Given the description of an element on the screen output the (x, y) to click on. 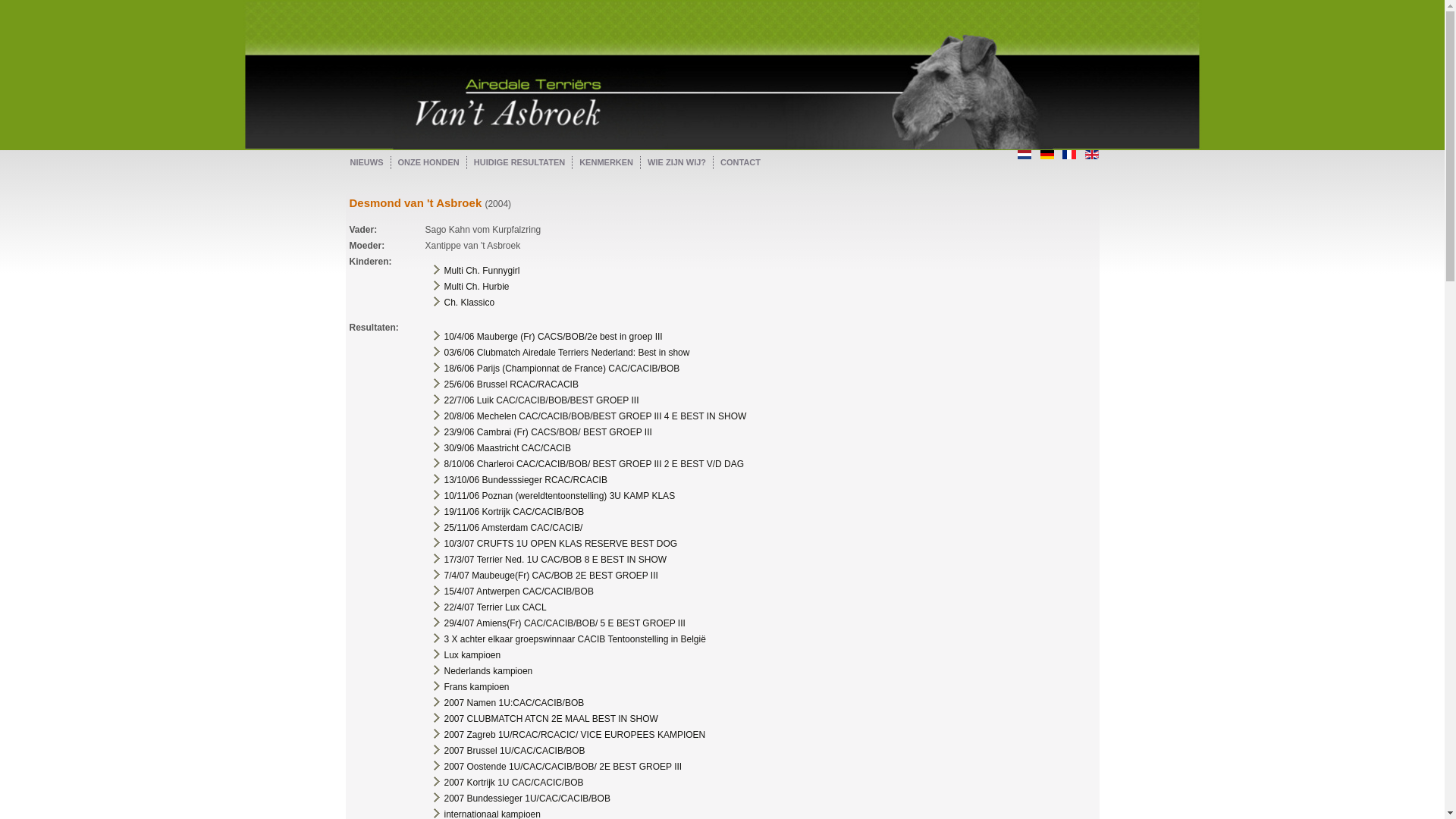
Nederlands (NL) Element type: hover (1024, 154)
HUIDIGE RESULTATEN Element type: text (518, 162)
ONZE HONDEN Element type: text (427, 162)
CONTACT Element type: text (740, 162)
WIE ZIJN WIJ? Element type: text (676, 162)
English (UK) Element type: hover (1091, 154)
KENMERKEN Element type: text (606, 162)
Deutsch Element type: hover (1047, 154)
NIEUWS Element type: text (366, 162)
